Given the description of an element on the screen output the (x, y) to click on. 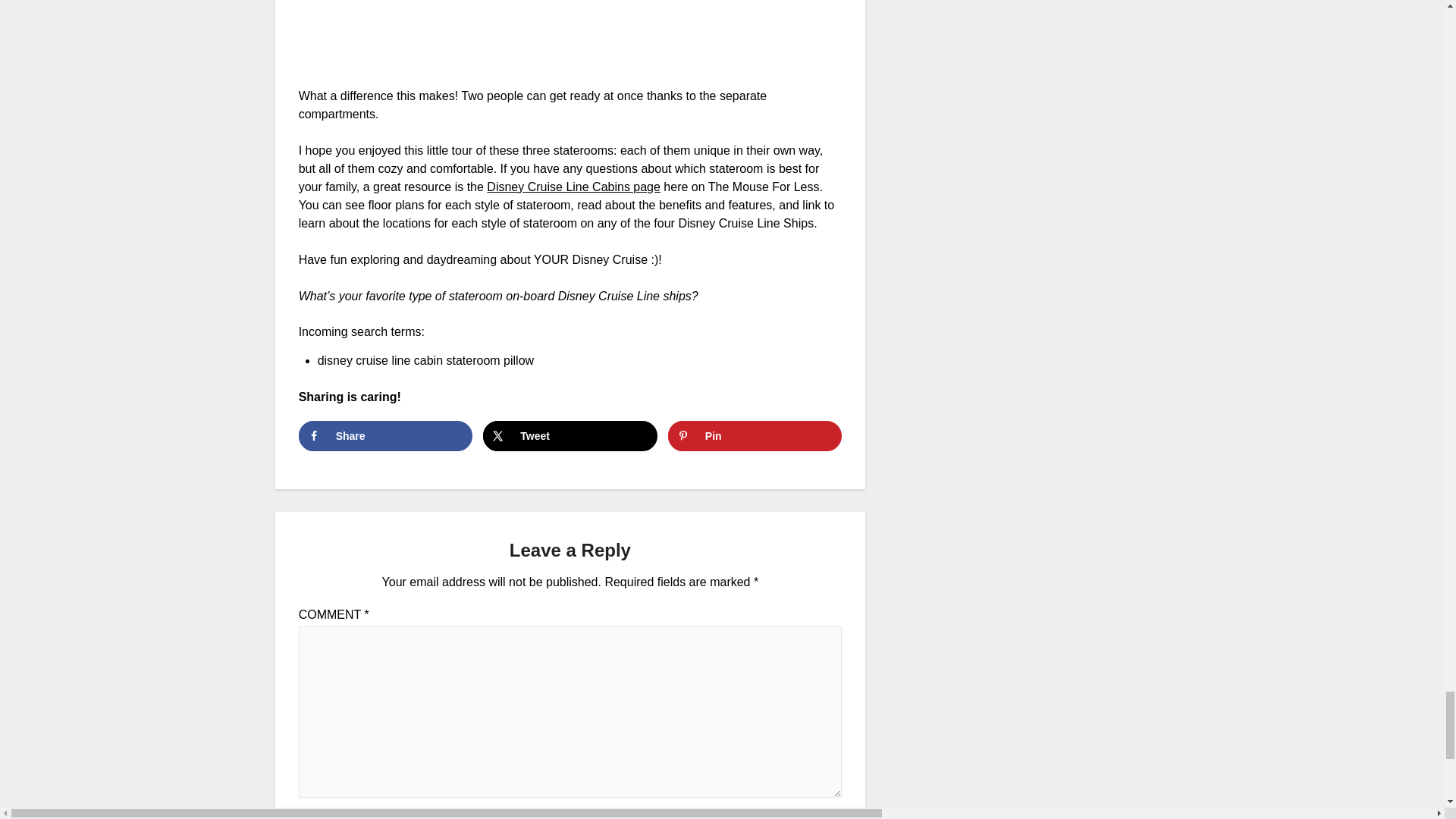
Share on Facebook (384, 435)
Share on X (569, 435)
Save to Pinterest (754, 435)
